Given the description of an element on the screen output the (x, y) to click on. 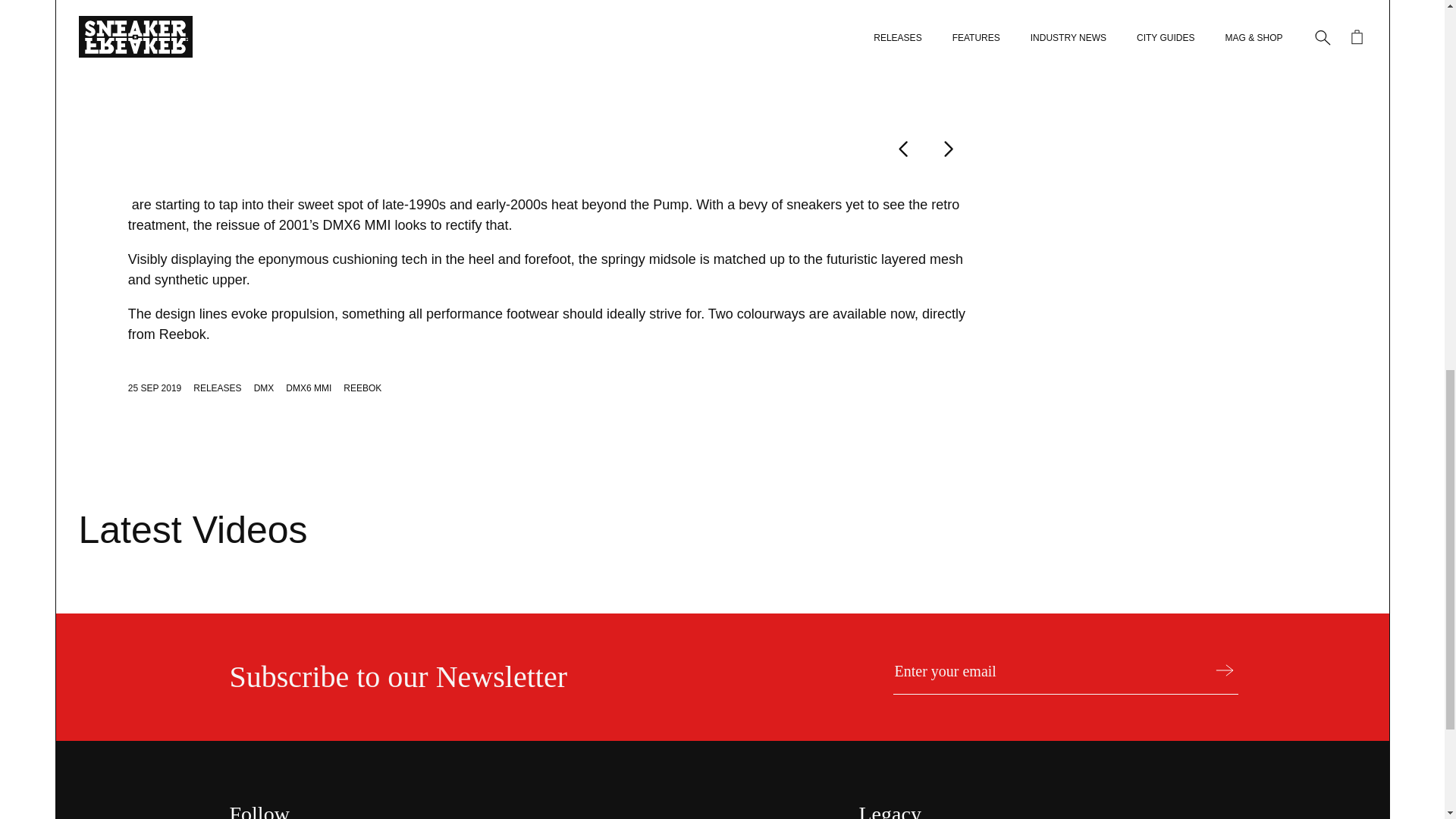
DMX6 MMI (308, 388)
RELEASES (217, 388)
REEBOK (362, 388)
DMX (264, 388)
